Given the description of an element on the screen output the (x, y) to click on. 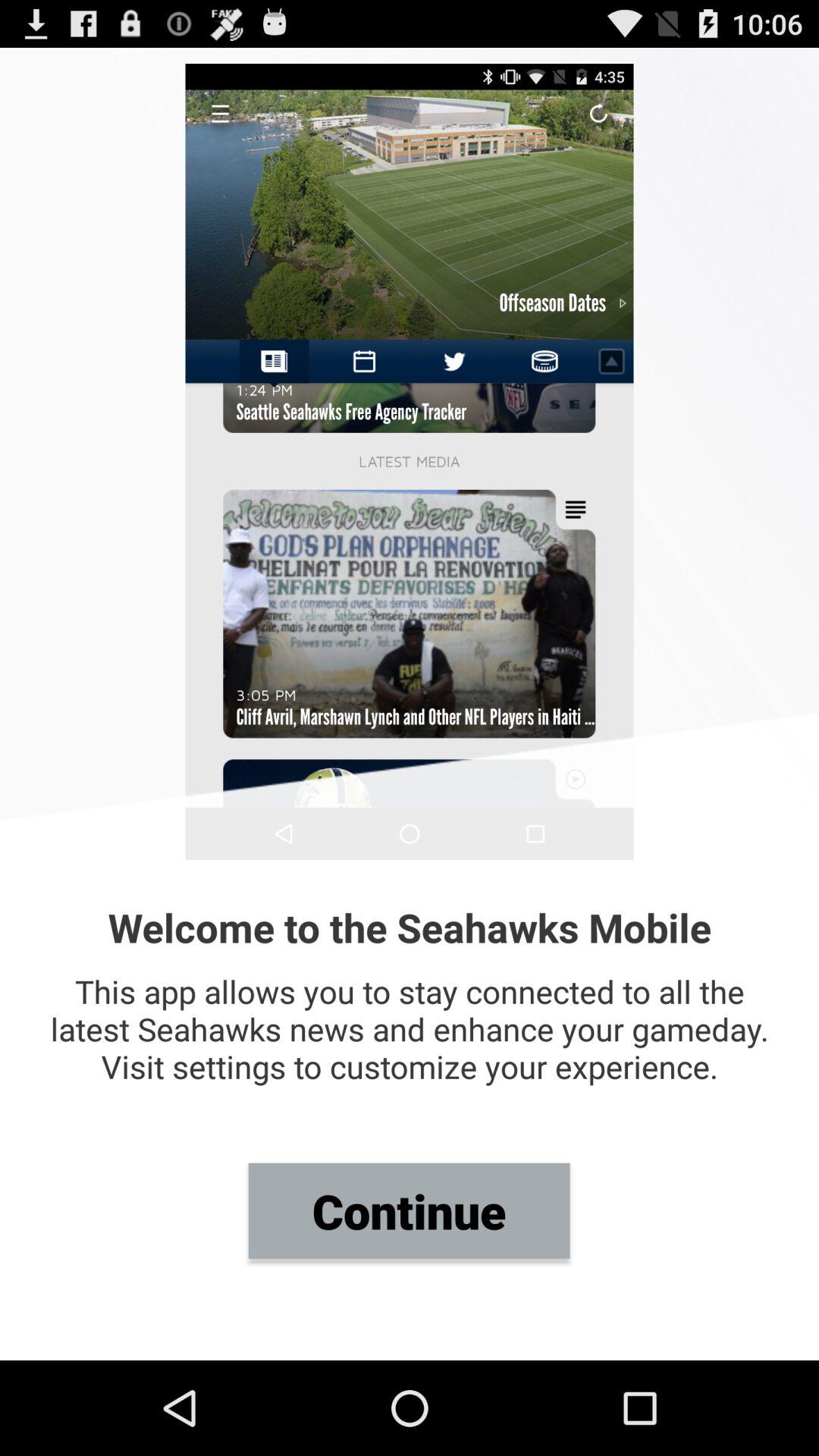
choose the icon below this app allows item (408, 1210)
